Given the description of an element on the screen output the (x, y) to click on. 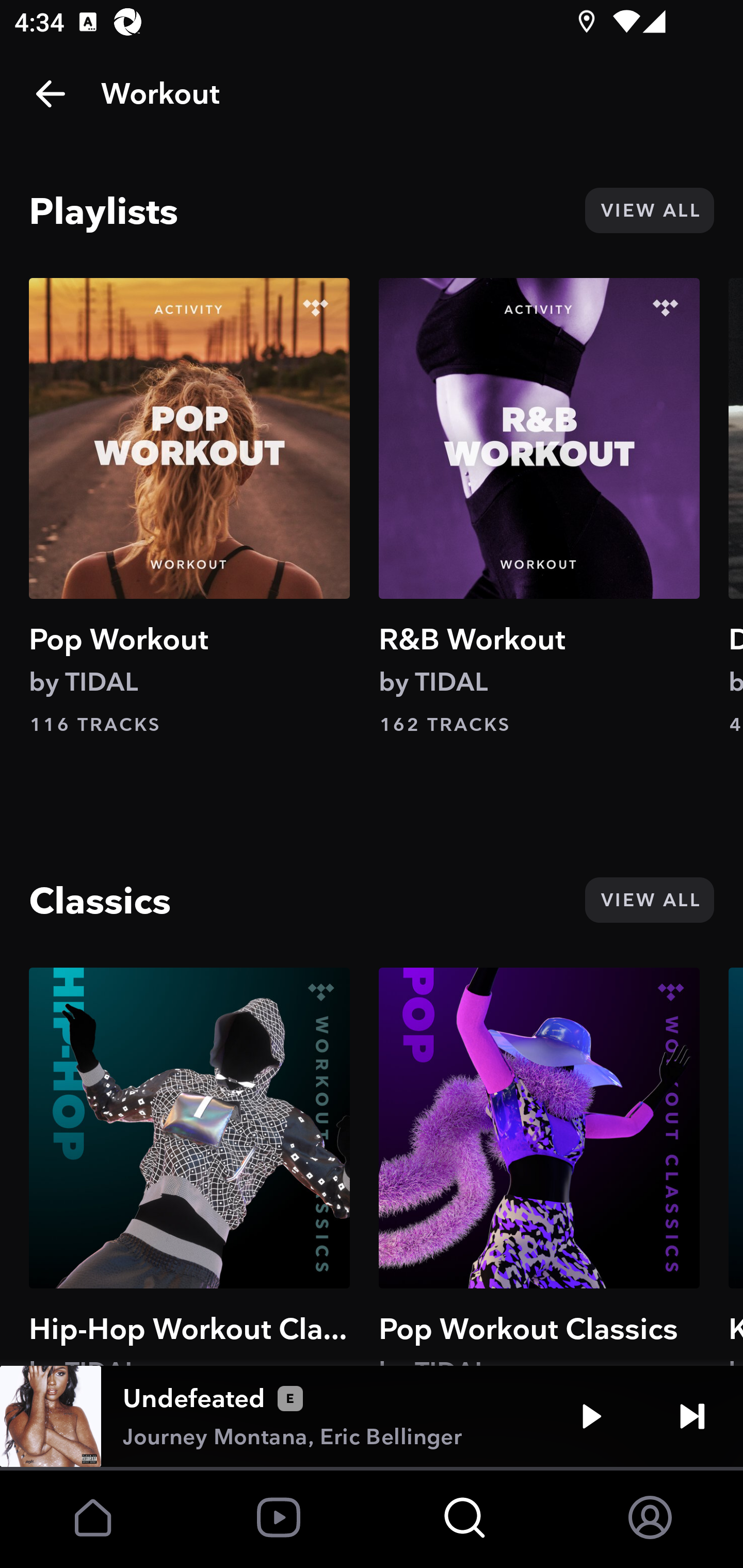
VIEW ALL (649, 210)
Pop Workout by TIDAL 116 TRACKS (188, 506)
R&B Workout by TIDAL 162 TRACKS (538, 506)
VIEW ALL (649, 899)
Hip-Hop Workout Classics by TIDAL (188, 1166)
Pop Workout Classics by TIDAL (538, 1166)
Undefeated    Journey Montana, Eric Bellinger Play (371, 1416)
Play (590, 1416)
